Given the description of an element on the screen output the (x, y) to click on. 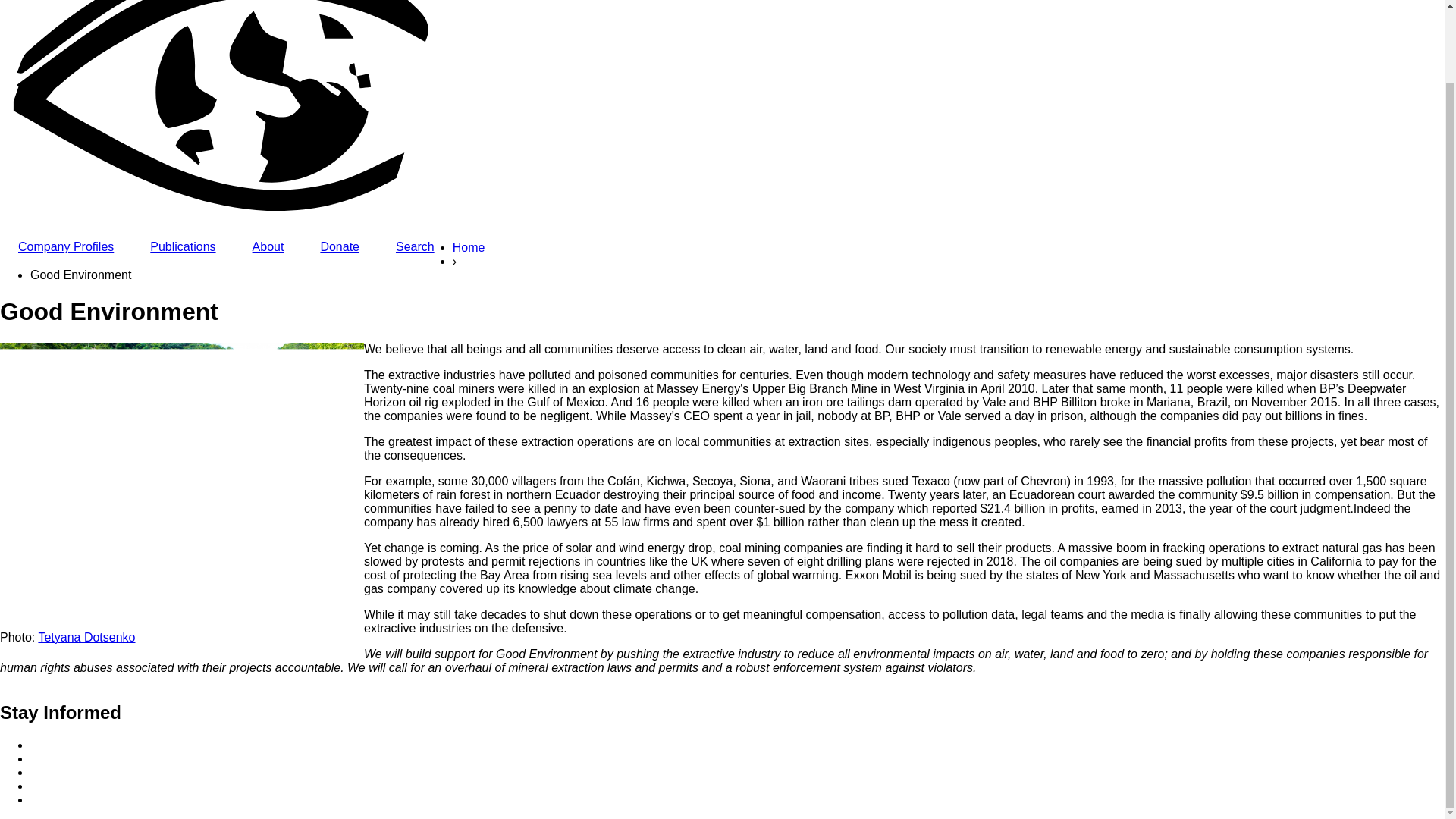
Home (468, 250)
About (268, 247)
Search (414, 247)
Company Profiles (66, 247)
Donate (339, 247)
Tetyana Dotsenko (86, 636)
Publications (182, 247)
